Given the description of an element on the screen output the (x, y) to click on. 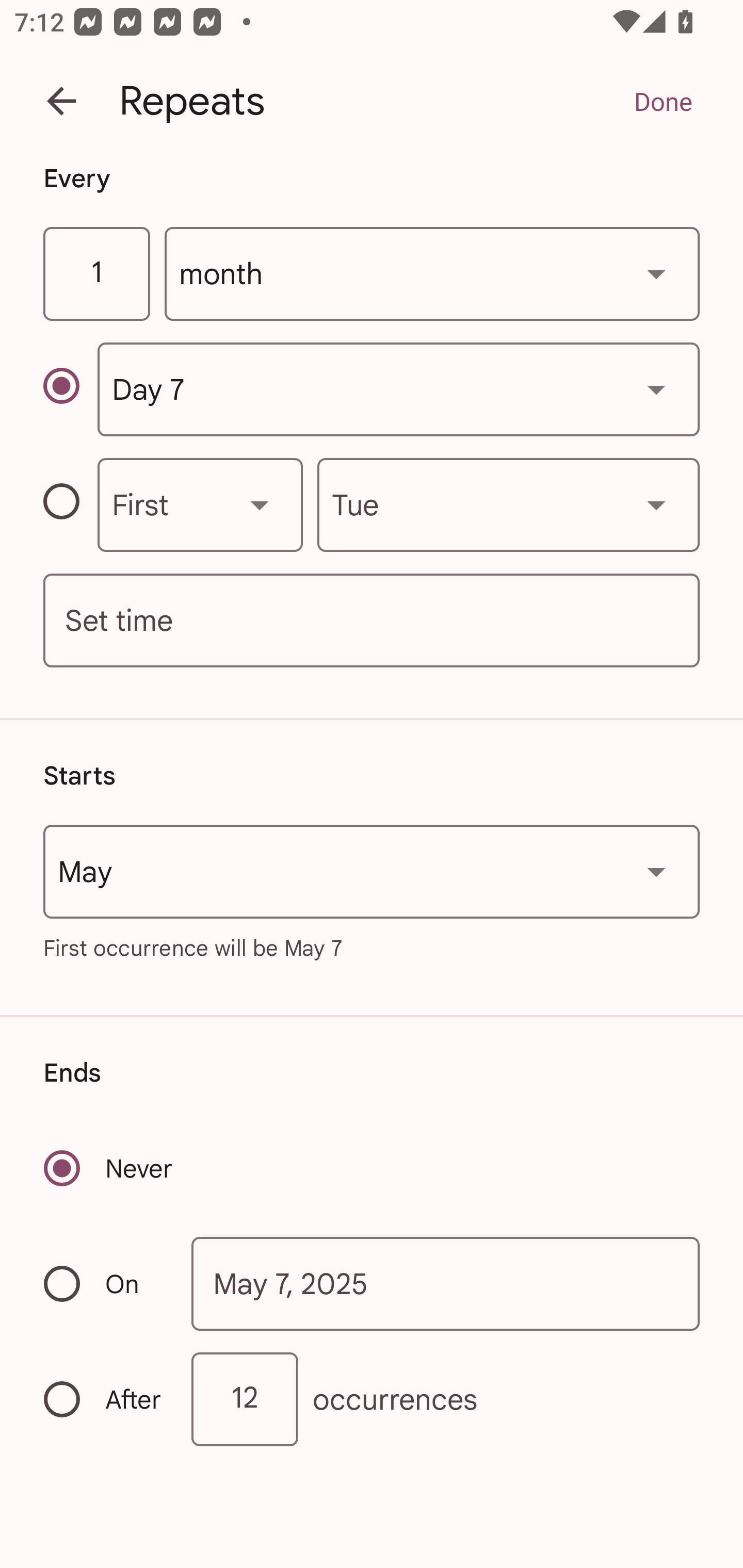
Back (61, 101)
Done (663, 101)
1 (96, 274)
month (431, 274)
Show dropdown menu (655, 273)
Day 7 (398, 388)
Show dropdown menu (655, 389)
Repeat monthly on a specific day of the month (70, 389)
First (200, 504)
Tue (508, 504)
Show dropdown menu (259, 504)
Show dropdown menu (655, 504)
Repeat monthly on a specific weekday (70, 504)
Set time (371, 620)
May (371, 871)
Show dropdown menu (655, 871)
Never Recurrence never ends (109, 1168)
May 7, 2025 (445, 1284)
On Recurrence ends on a specific date (104, 1283)
12 (244, 1398)
